Given the description of an element on the screen output the (x, y) to click on. 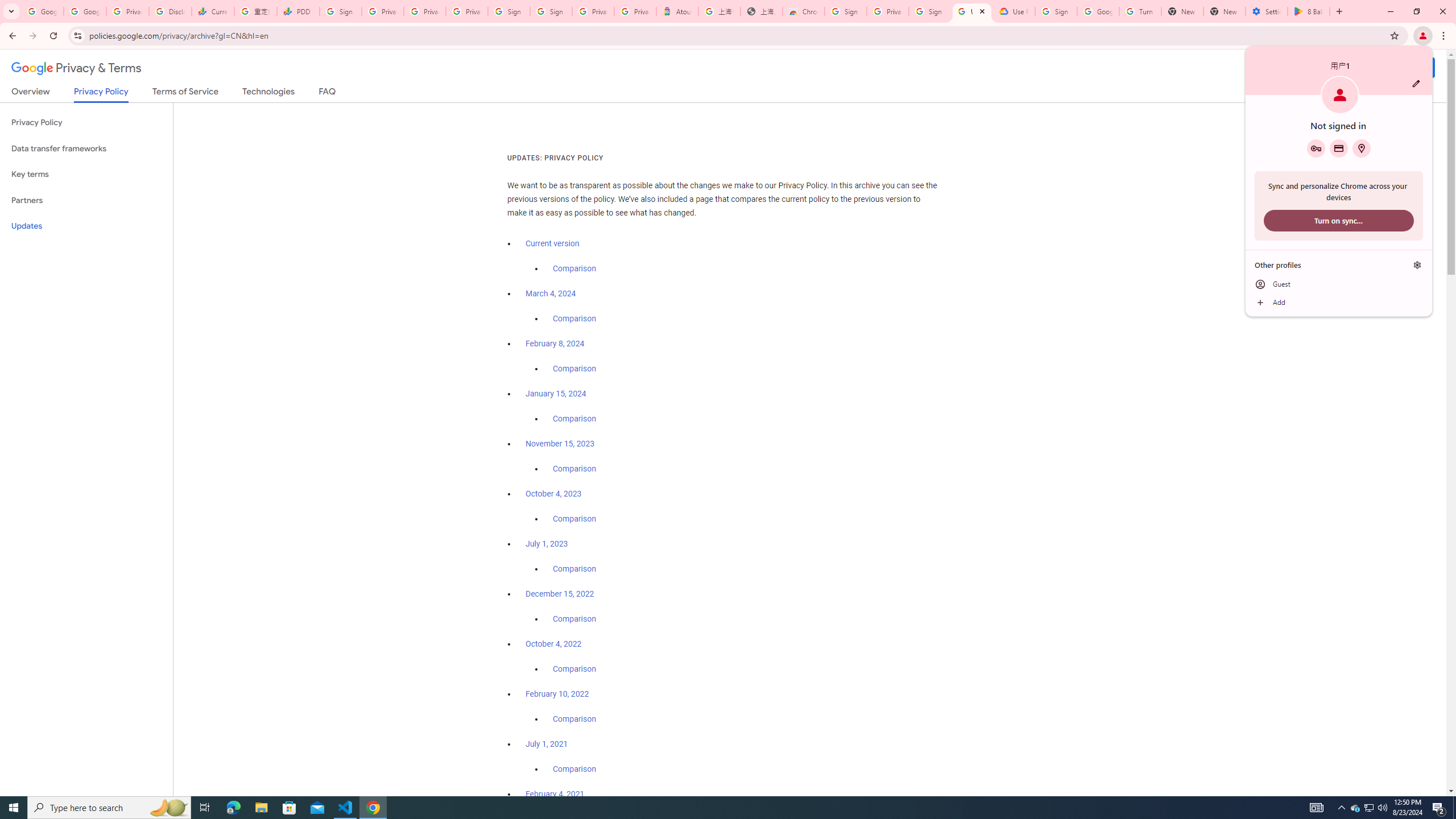
FAQ (327, 93)
March 4, 2024 (1355, 807)
Privacy Checkup (550, 293)
Customize profile (424, 11)
Turn cookies on or off - Computer - Google Account Help (1415, 83)
Partners (1139, 11)
October 4, 2022 (86, 199)
Addresses and more (553, 643)
December 15, 2022 (1361, 148)
Sign in - Google Accounts (559, 593)
